Given the description of an element on the screen output the (x, y) to click on. 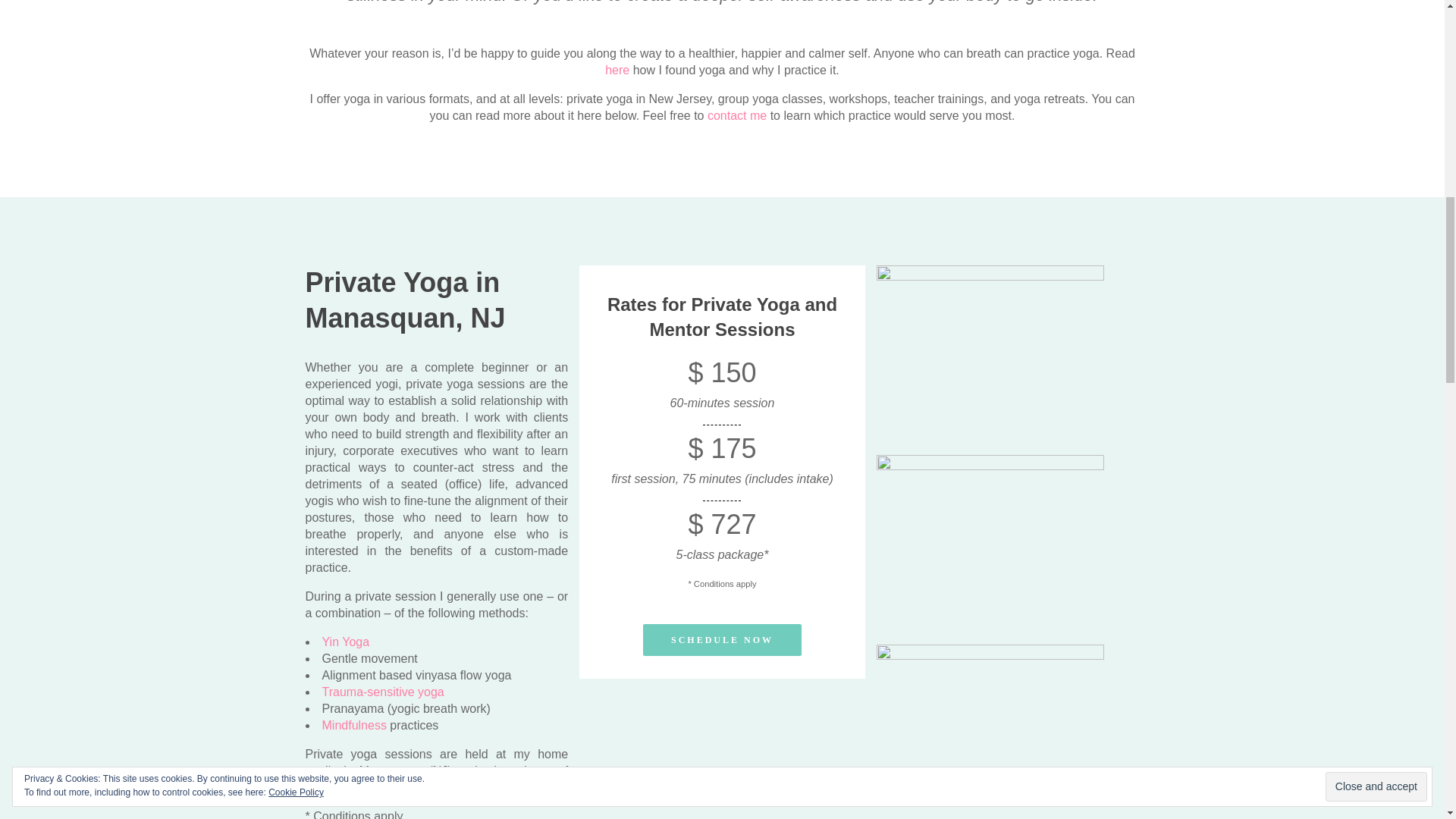
SCHEDULE NOW (722, 640)
Trauma-sensitive yoga (382, 691)
contact me (737, 115)
Mindfulness (353, 725)
Yin Yoga (345, 641)
here (616, 69)
